Given the description of an element on the screen output the (x, y) to click on. 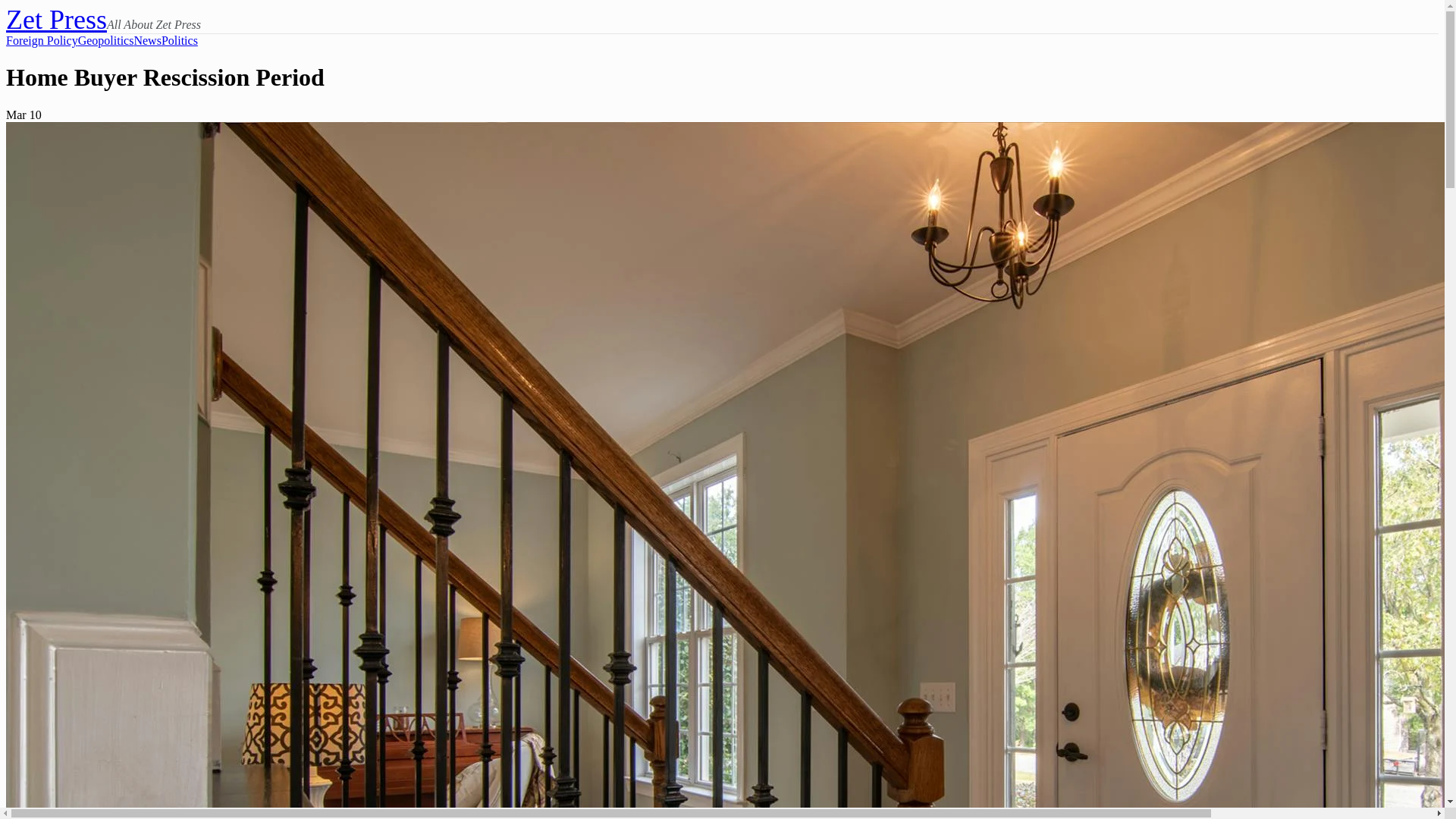
Zet Press (55, 19)
Foreign Policy (41, 40)
News (146, 40)
Politics (179, 40)
Geopolitics (105, 40)
